Given the description of an element on the screen output the (x, y) to click on. 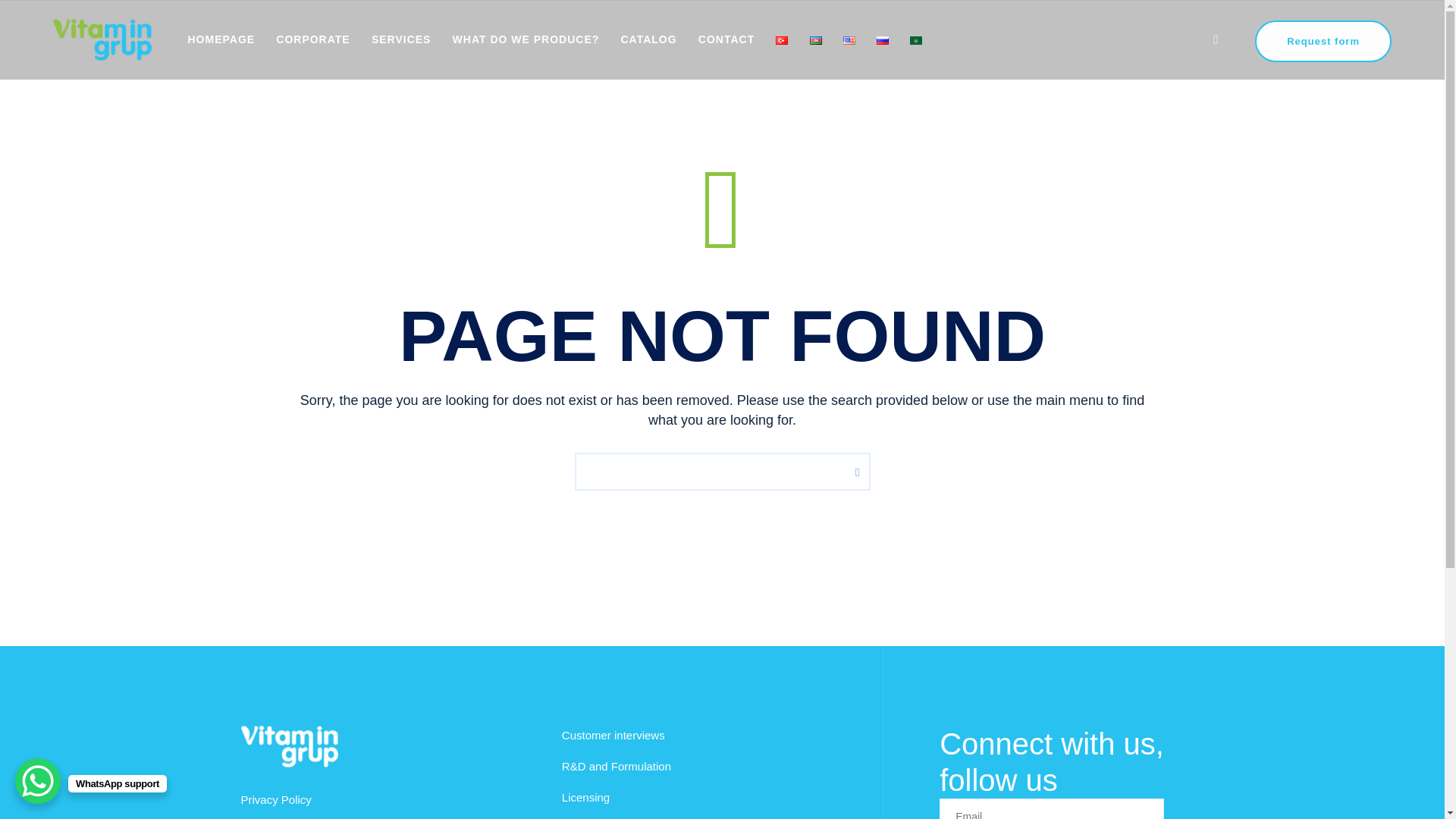
Search (852, 469)
Licensing (586, 797)
CORPORATE (312, 39)
WHAT DO WE PRODUCE? (525, 39)
Search (852, 469)
Customer interviews (613, 735)
Request form (1323, 41)
Search (852, 469)
Search (1215, 39)
Privacy Policy (276, 799)
